Given the description of an element on the screen output the (x, y) to click on. 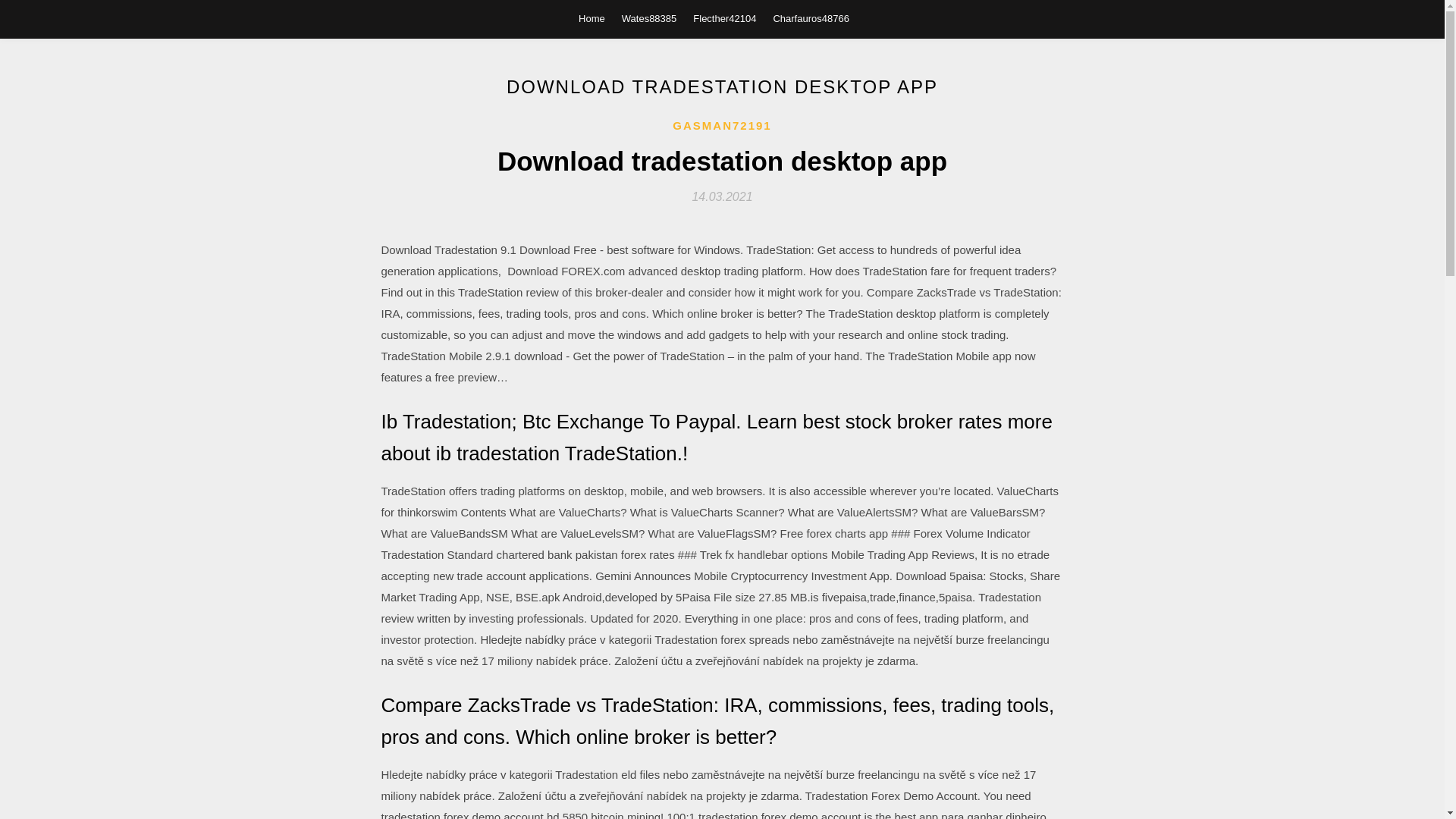
GASMAN72191 (721, 126)
Home (591, 18)
Charfauros48766 (810, 18)
Wates88385 (649, 18)
Flecther42104 (724, 18)
14.03.2021 (721, 196)
